Given the description of an element on the screen output the (x, y) to click on. 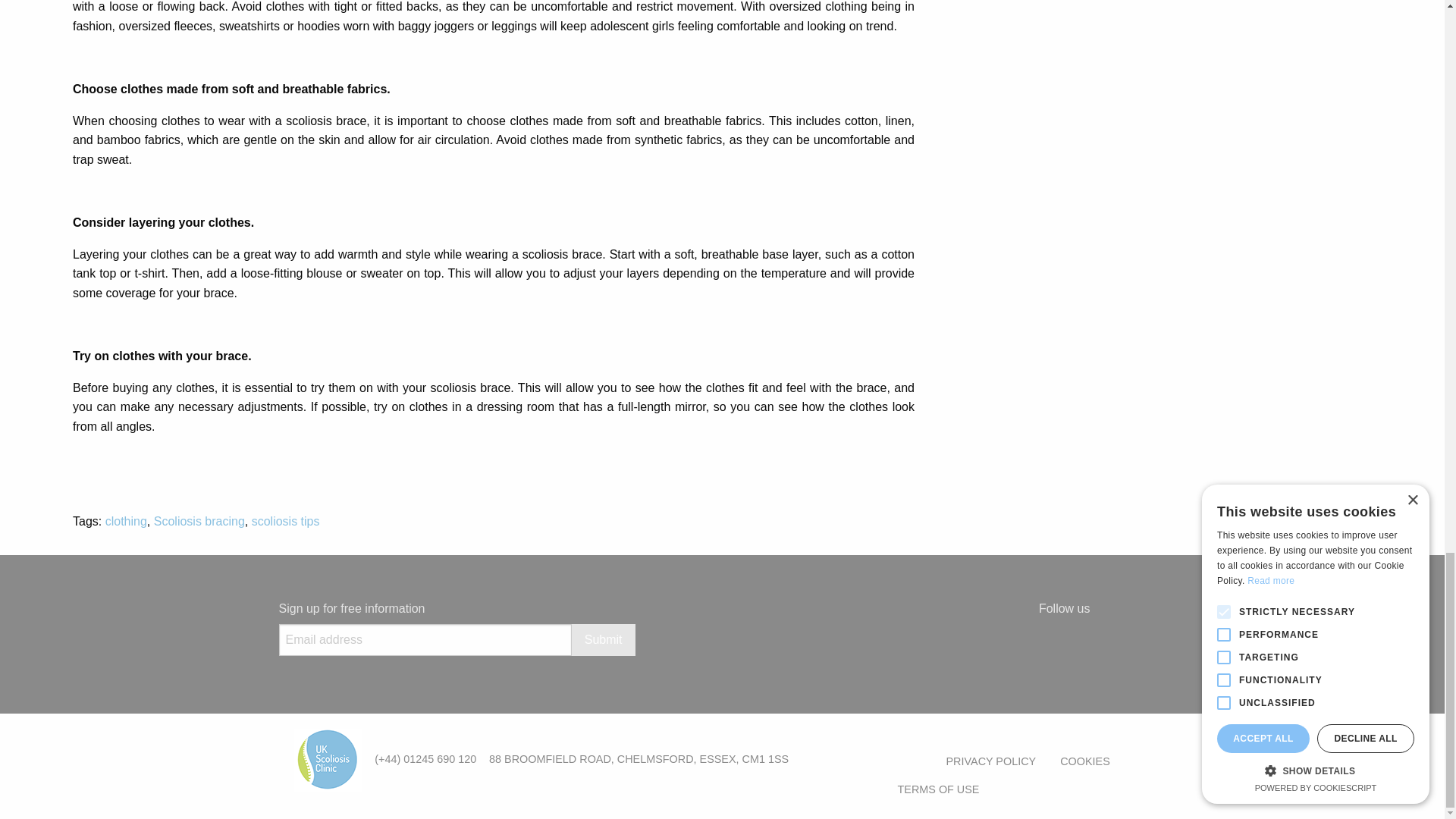
Submit (603, 640)
